Given the description of an element on the screen output the (x, y) to click on. 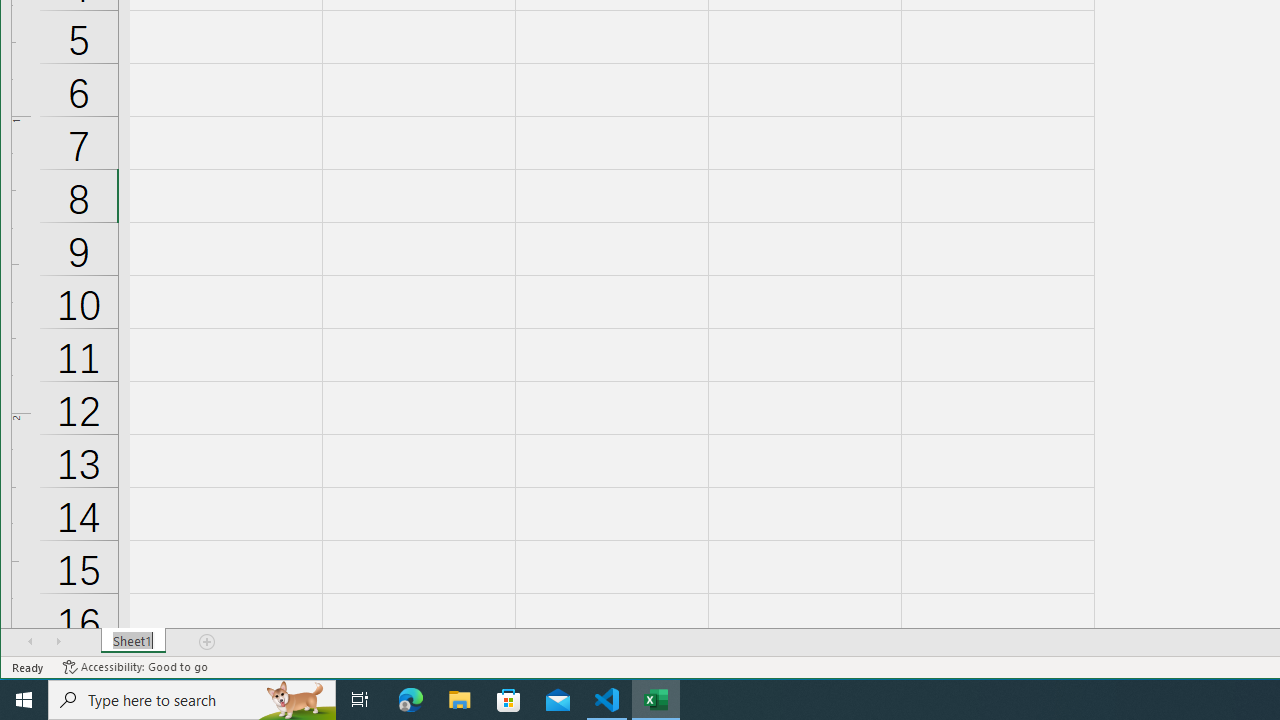
Type here to search (191, 699)
Microsoft Store (509, 699)
File Explorer (460, 699)
Task View (359, 699)
Search highlights icon opens search home window (295, 699)
Excel - 1 running window (656, 699)
Sheet Tab (133, 641)
Microsoft Edge (411, 699)
Start (24, 699)
Visual Studio Code - 1 running window (607, 699)
